Given the description of an element on the screen output the (x, y) to click on. 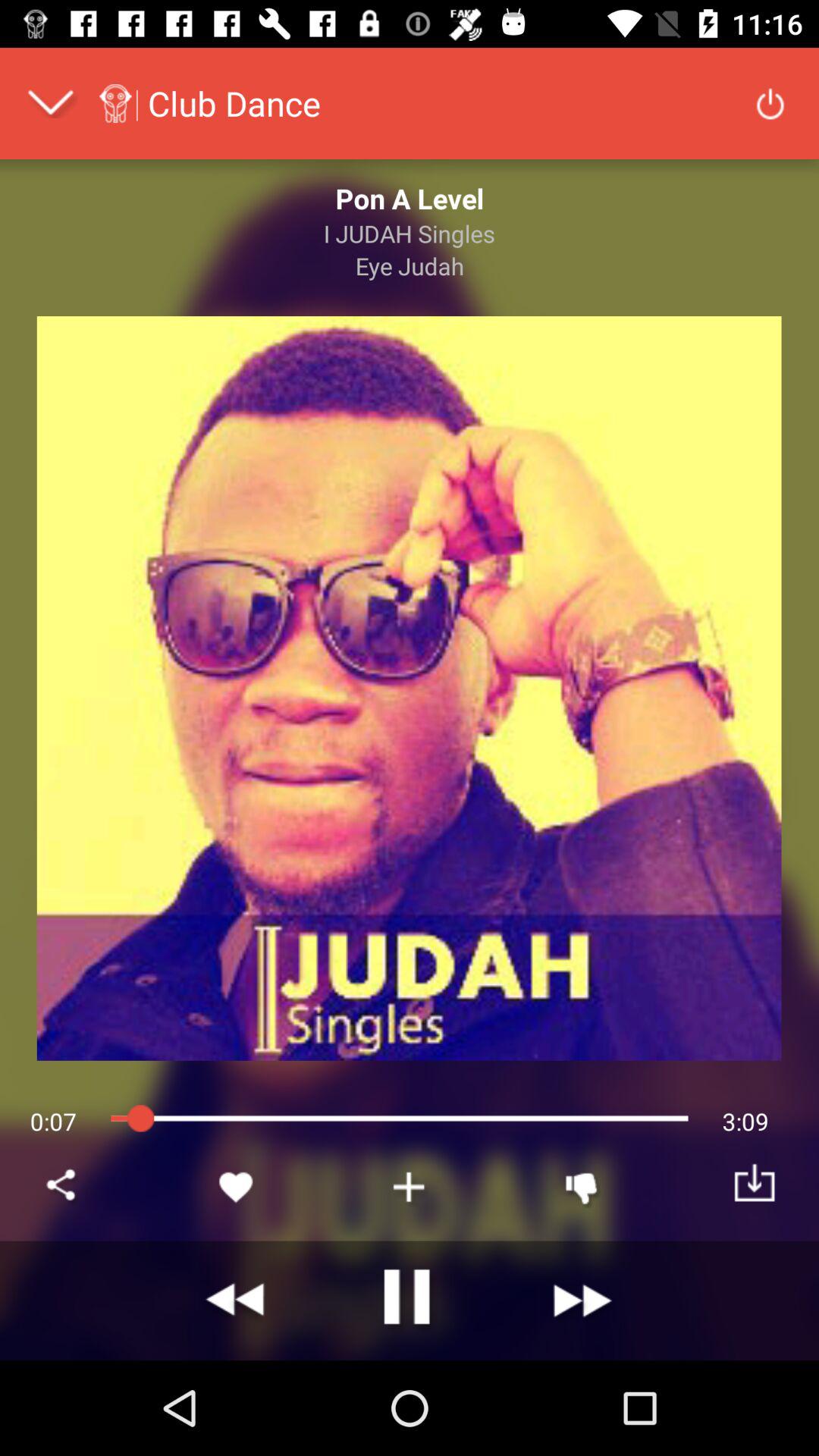
swipe until the club dance (233, 103)
